Given the description of an element on the screen output the (x, y) to click on. 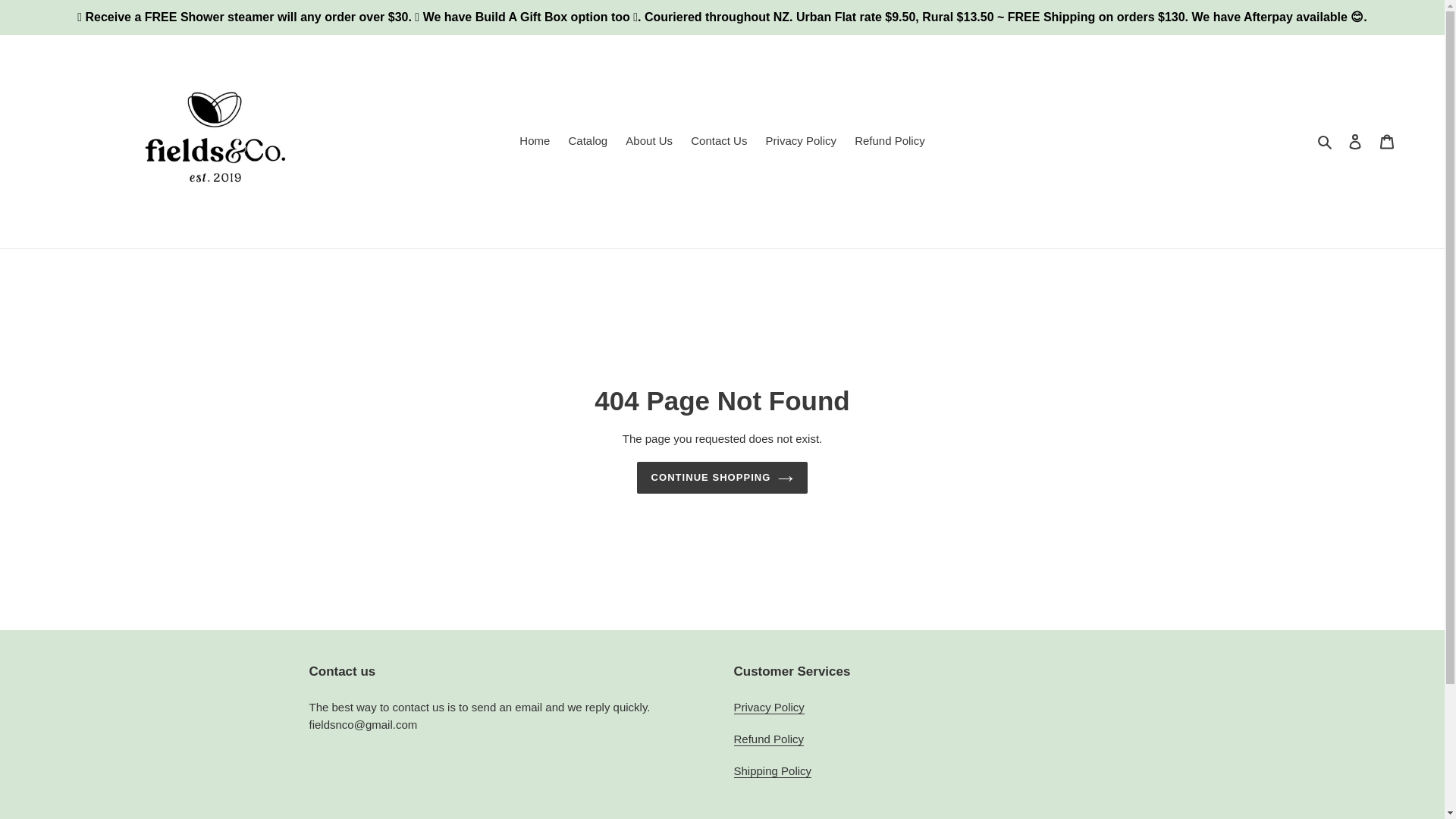
CONTINUE SHOPPING (722, 477)
Privacy Policy (769, 707)
Refund Policy (769, 739)
Catalog (587, 141)
Home (534, 141)
Shipping Policy (772, 771)
Refund Policy (769, 739)
Privacy Policy (769, 707)
Shipping Policy (772, 771)
About Us (648, 141)
